Given the description of an element on the screen output the (x, y) to click on. 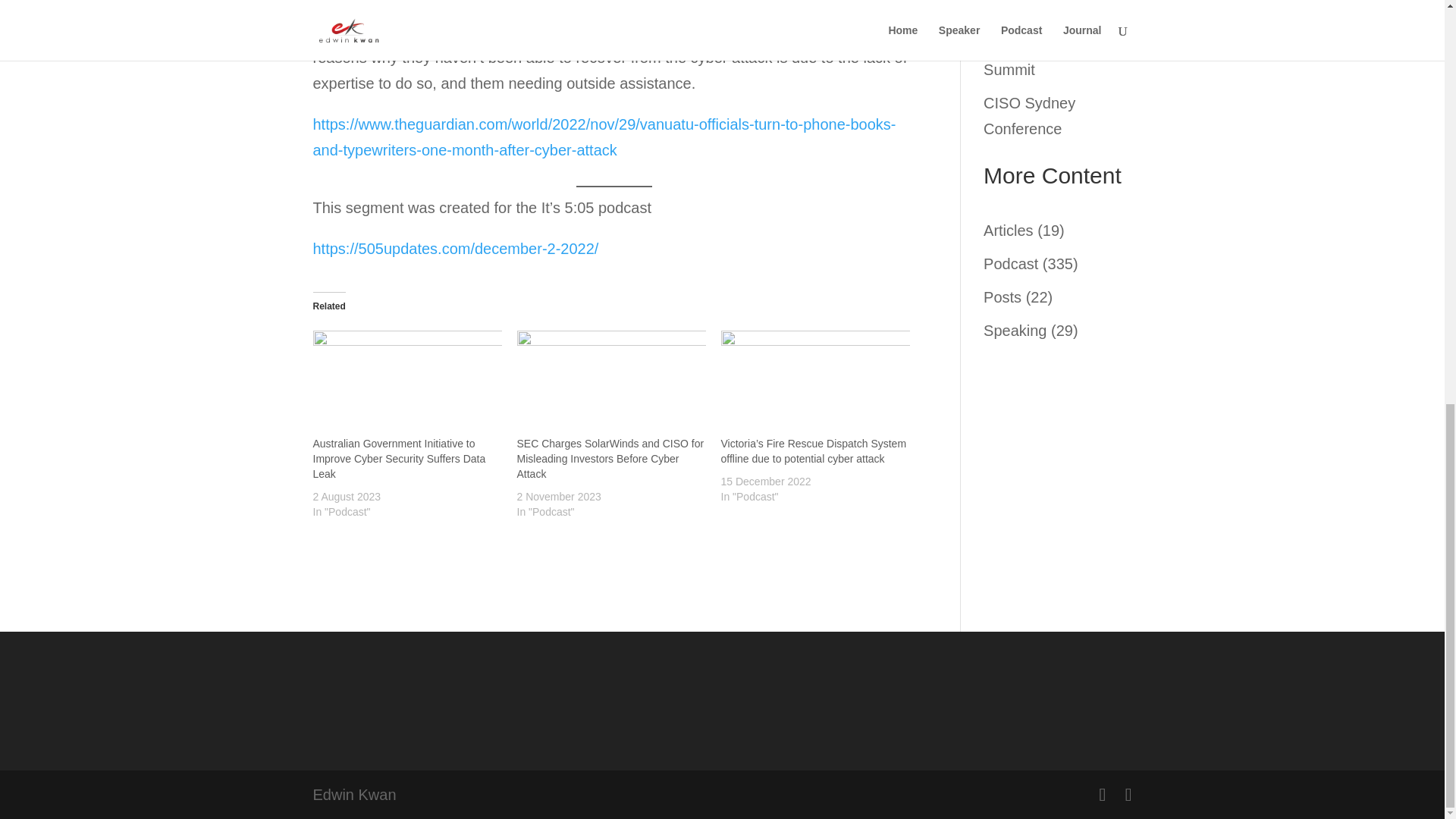
Articles (1008, 230)
CISO Sydney Conference (1029, 116)
Podcast (1011, 263)
Posts (1003, 297)
Speaking (1015, 330)
